Given the description of an element on the screen output the (x, y) to click on. 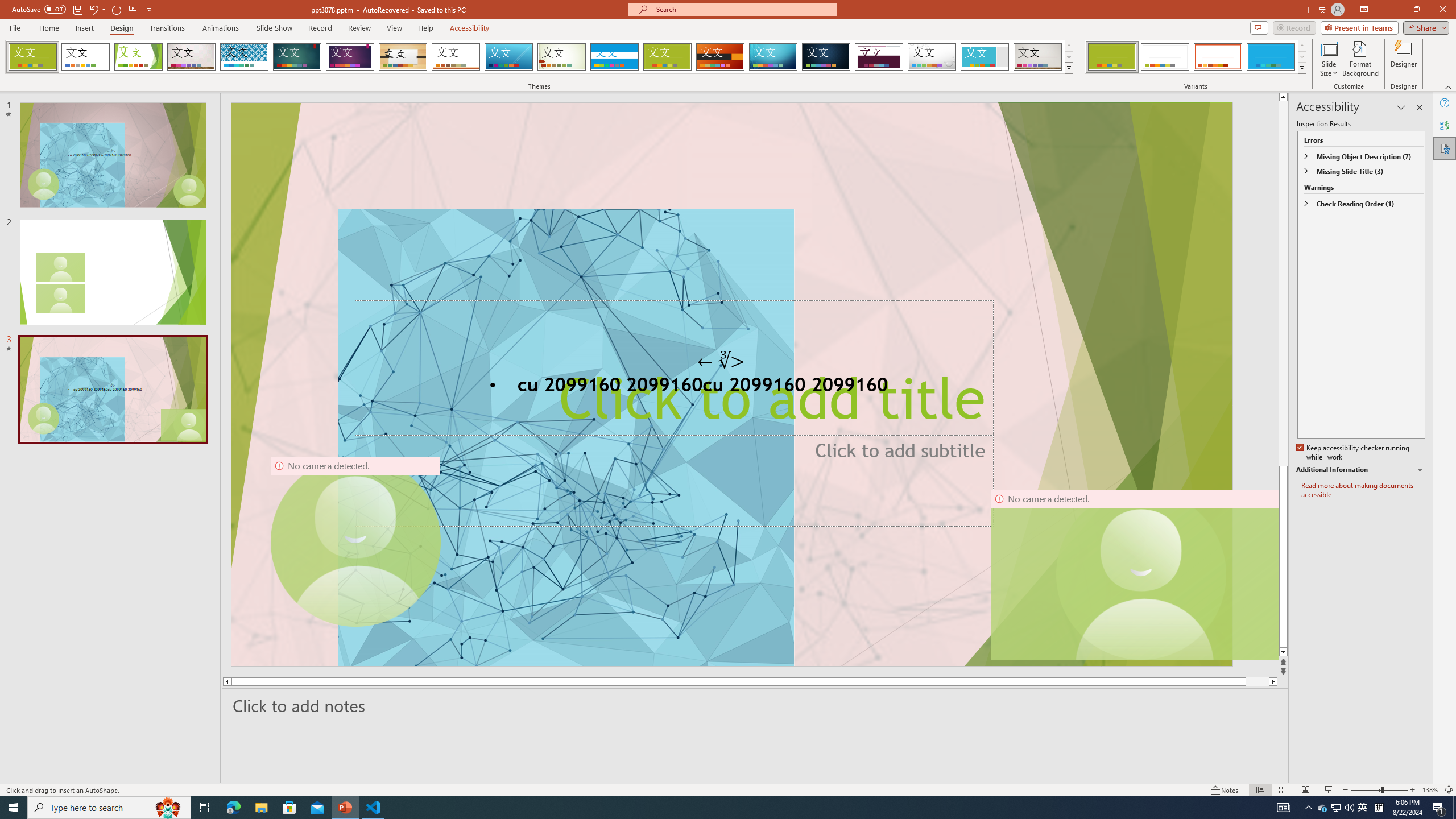
Berlin (720, 56)
Zoom 138% (1430, 790)
Droplet (931, 56)
Read more about making documents accessible (1363, 489)
